Given the description of an element on the screen output the (x, y) to click on. 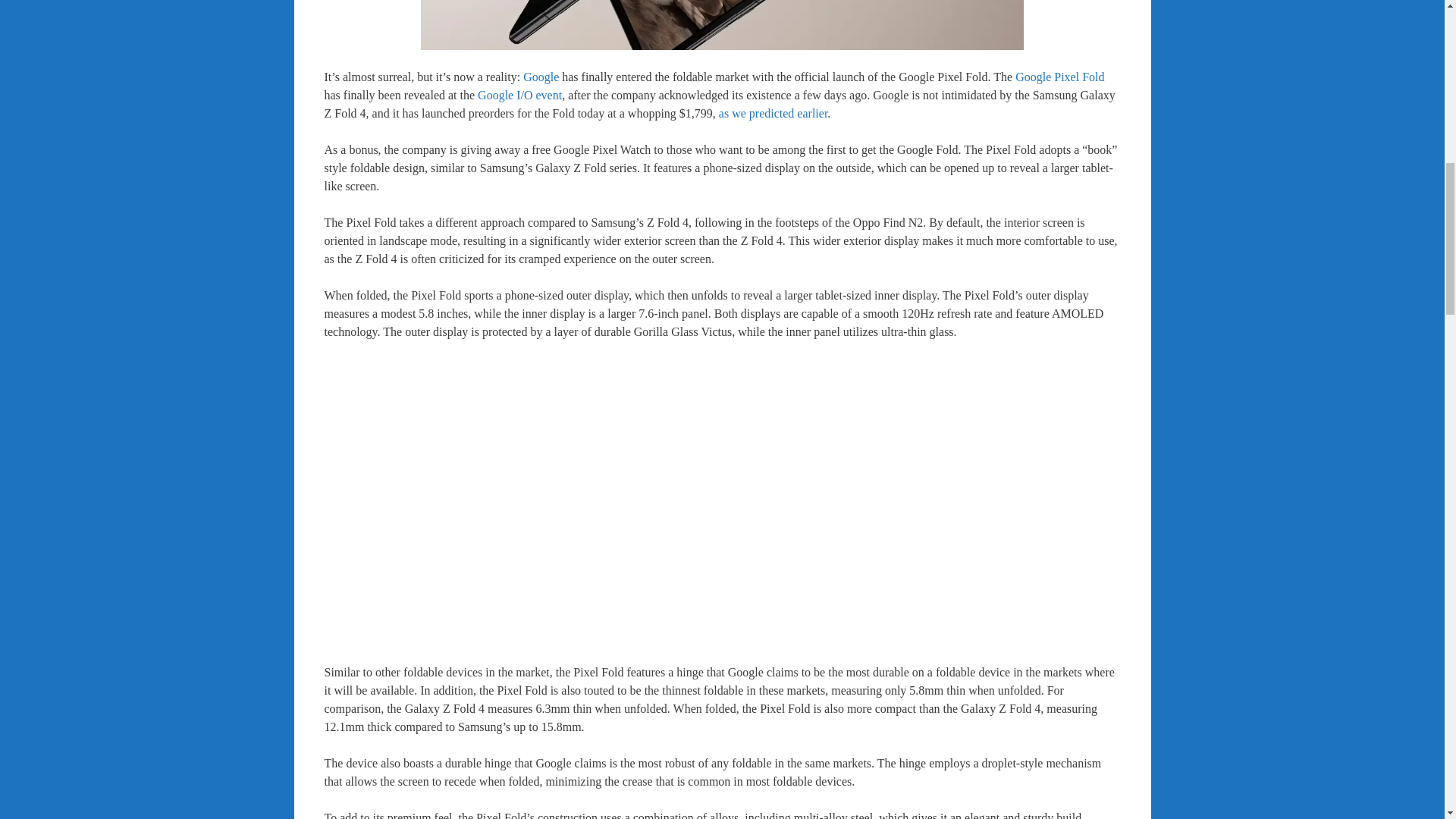
Scroll back to top (1406, 720)
Google (540, 76)
as we predicted earlier (773, 113)
Google Pixel Fold (1058, 76)
